Given the description of an element on the screen output the (x, y) to click on. 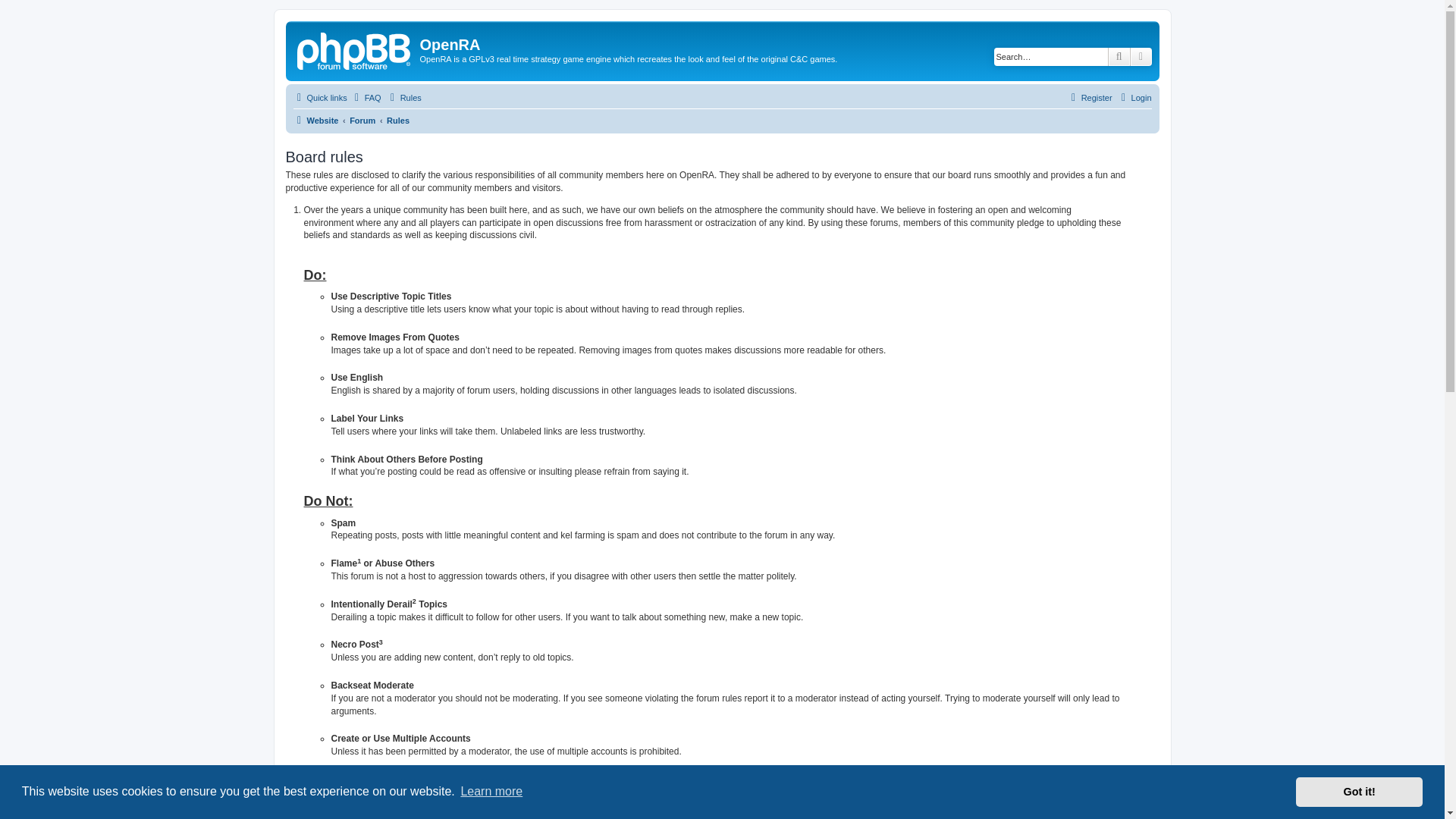
Search (1119, 56)
View the Rules of this Board (404, 97)
Forum (362, 120)
Learn more (491, 791)
Rules (404, 97)
Login (1134, 97)
Rules (398, 120)
Register (1089, 97)
Login (1134, 97)
Website (314, 120)
Frequently Asked Questions (365, 97)
Advanced search (1141, 56)
Search (1119, 56)
Forum (362, 120)
Advanced search (1141, 56)
